Given the description of an element on the screen output the (x, y) to click on. 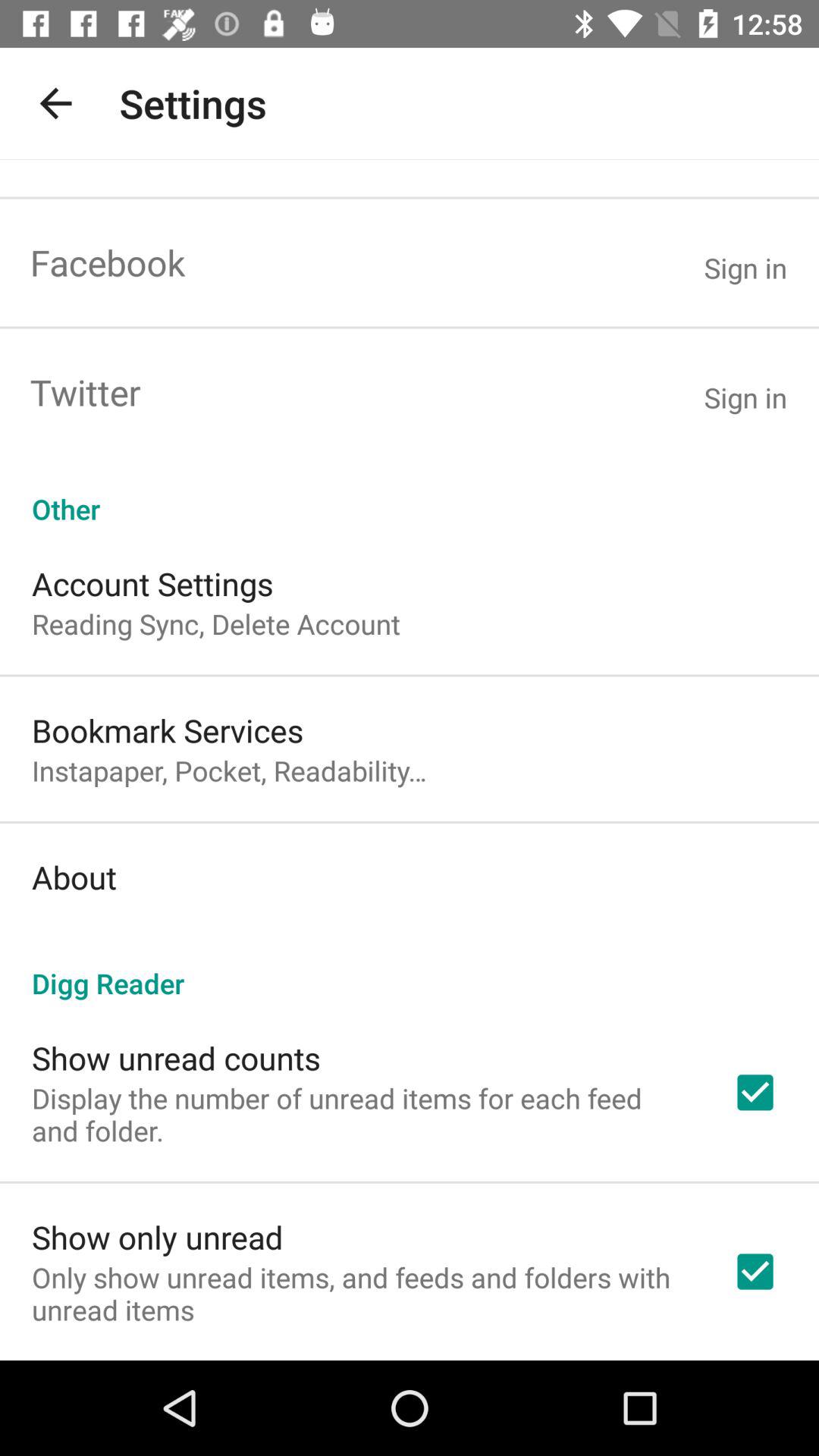
turn on twitter icon (85, 391)
